Given the description of an element on the screen output the (x, y) to click on. 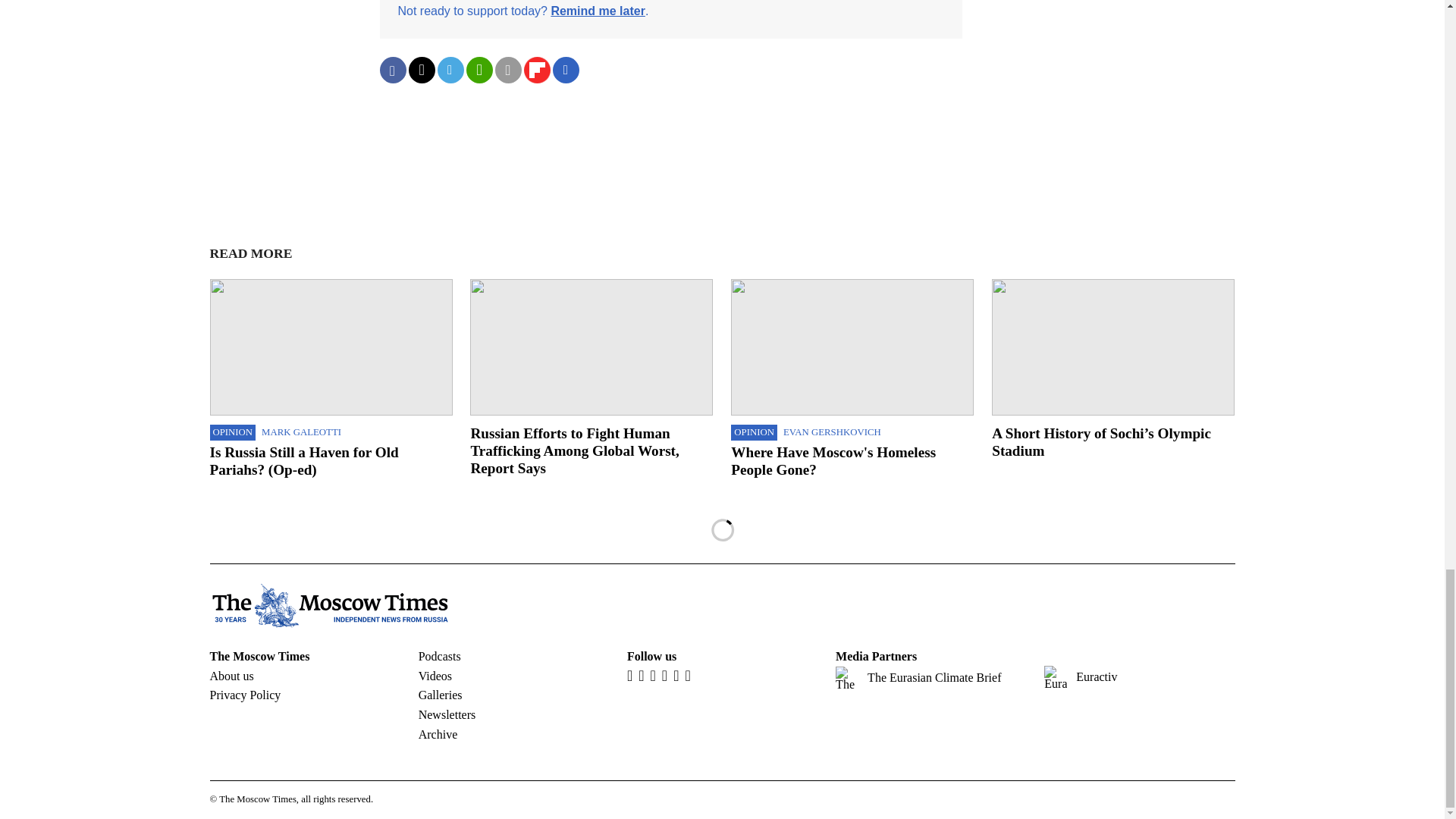
Share on Twitter (420, 69)
Share on Facebook (392, 69)
Share on Flipboard (536, 69)
Share on Telegram (449, 69)
